Given the description of an element on the screen output the (x, y) to click on. 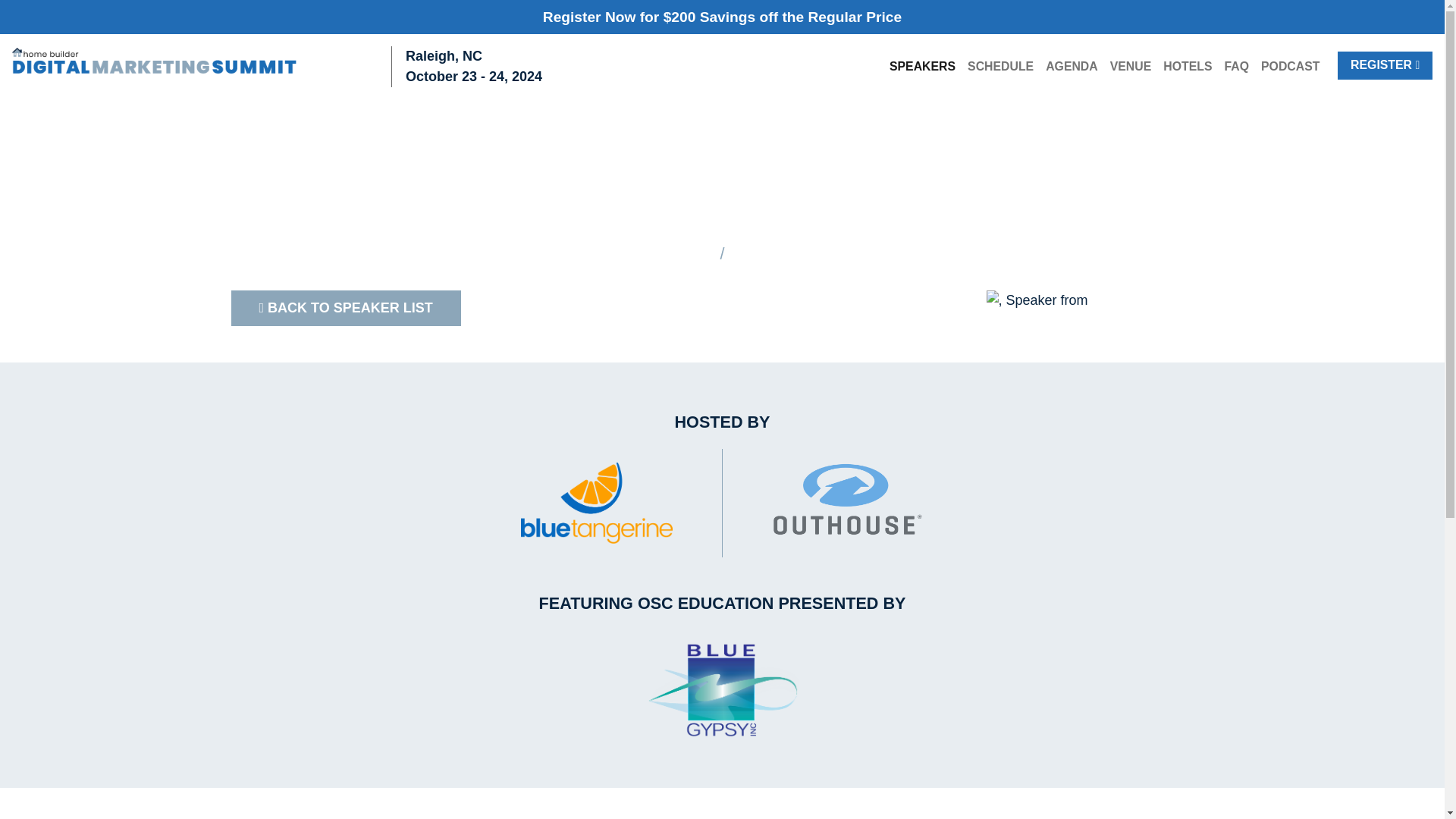
REGISTER (1385, 65)
AGENDA (1071, 66)
FAQ (1236, 66)
HOTELS (1187, 66)
Best Home Builder Digital Marketing Summit (163, 66)
BACK TO SPEAKER LIST (345, 307)
SCHEDULE (999, 66)
VENUE (1130, 66)
PODCAST (1289, 66)
SPEAKERS (921, 66)
